Given the description of an element on the screen output the (x, y) to click on. 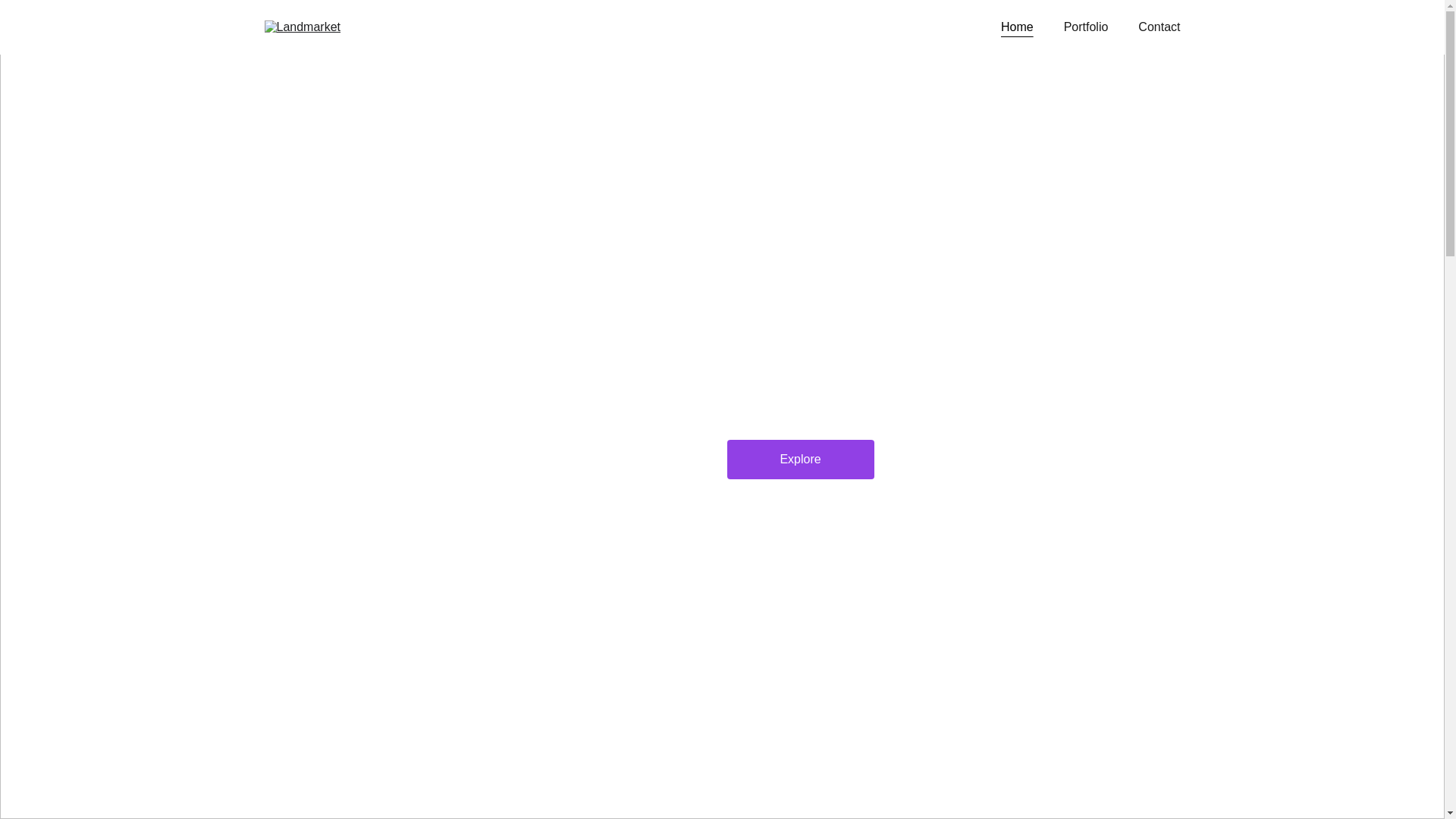
Explore Element type: text (799, 459)
Portfolio Element type: text (1085, 27)
Contact Element type: text (1158, 27)
Home Element type: text (1017, 27)
